Given the description of an element on the screen output the (x, y) to click on. 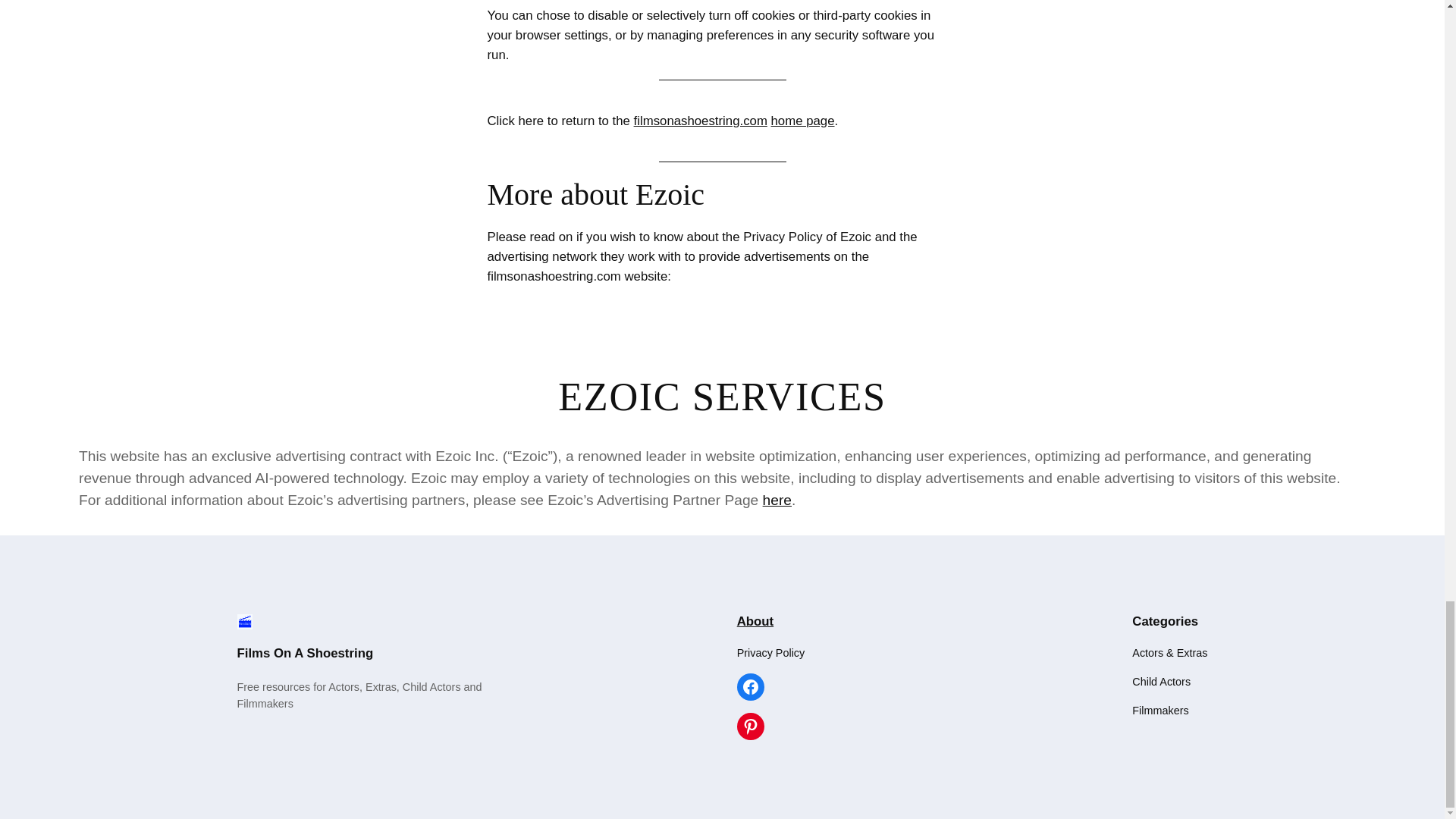
Child Actors (1161, 681)
Facebook (750, 687)
here (777, 498)
About (754, 621)
filmsonashoestring.com (700, 120)
Privacy Policy (770, 652)
Pinterest (750, 726)
Films On A Shoestring (303, 653)
Filmmakers (1160, 710)
home page (802, 120)
